Given the description of an element on the screen output the (x, y) to click on. 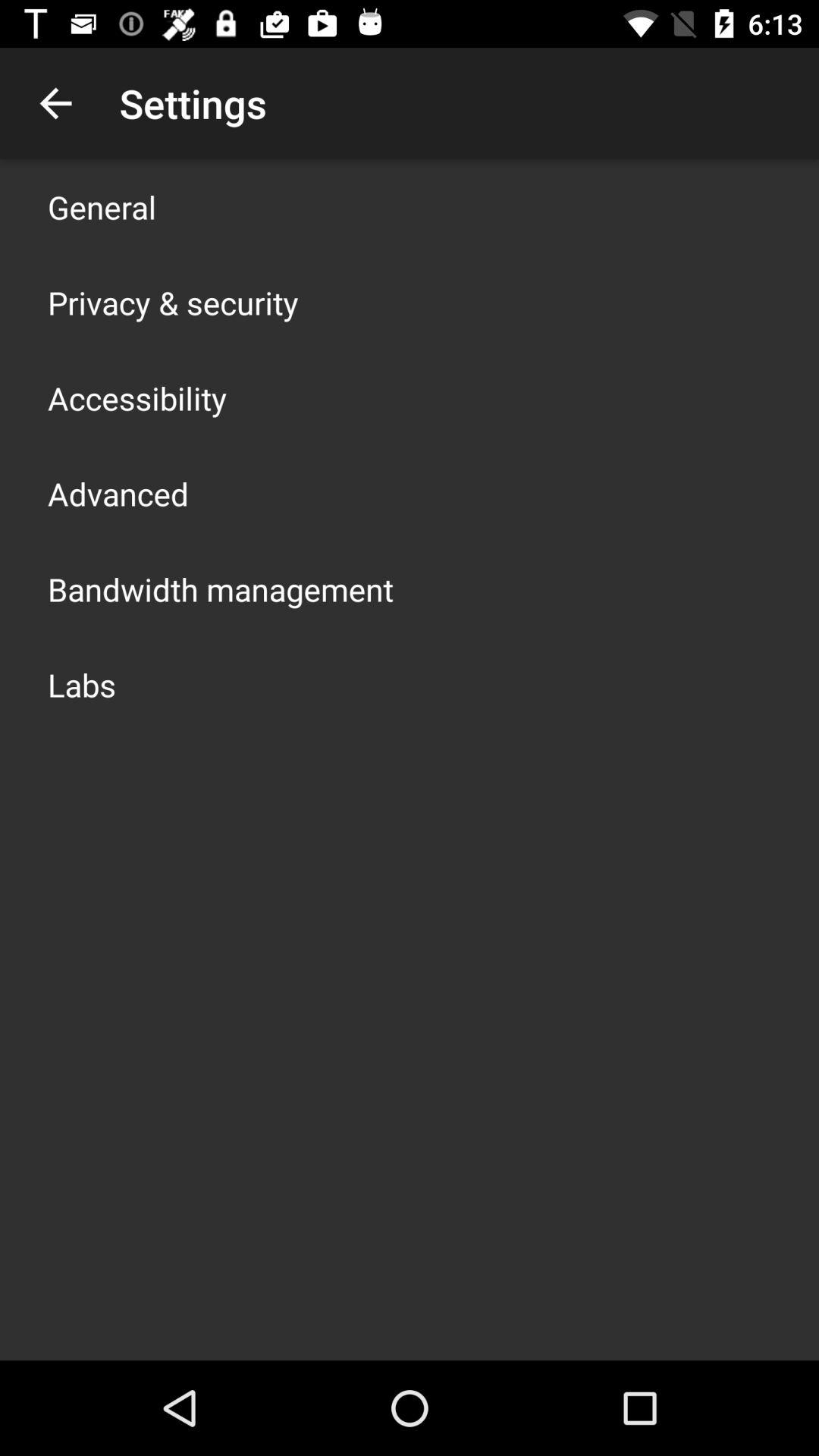
flip until general item (101, 206)
